Given the description of an element on the screen output the (x, y) to click on. 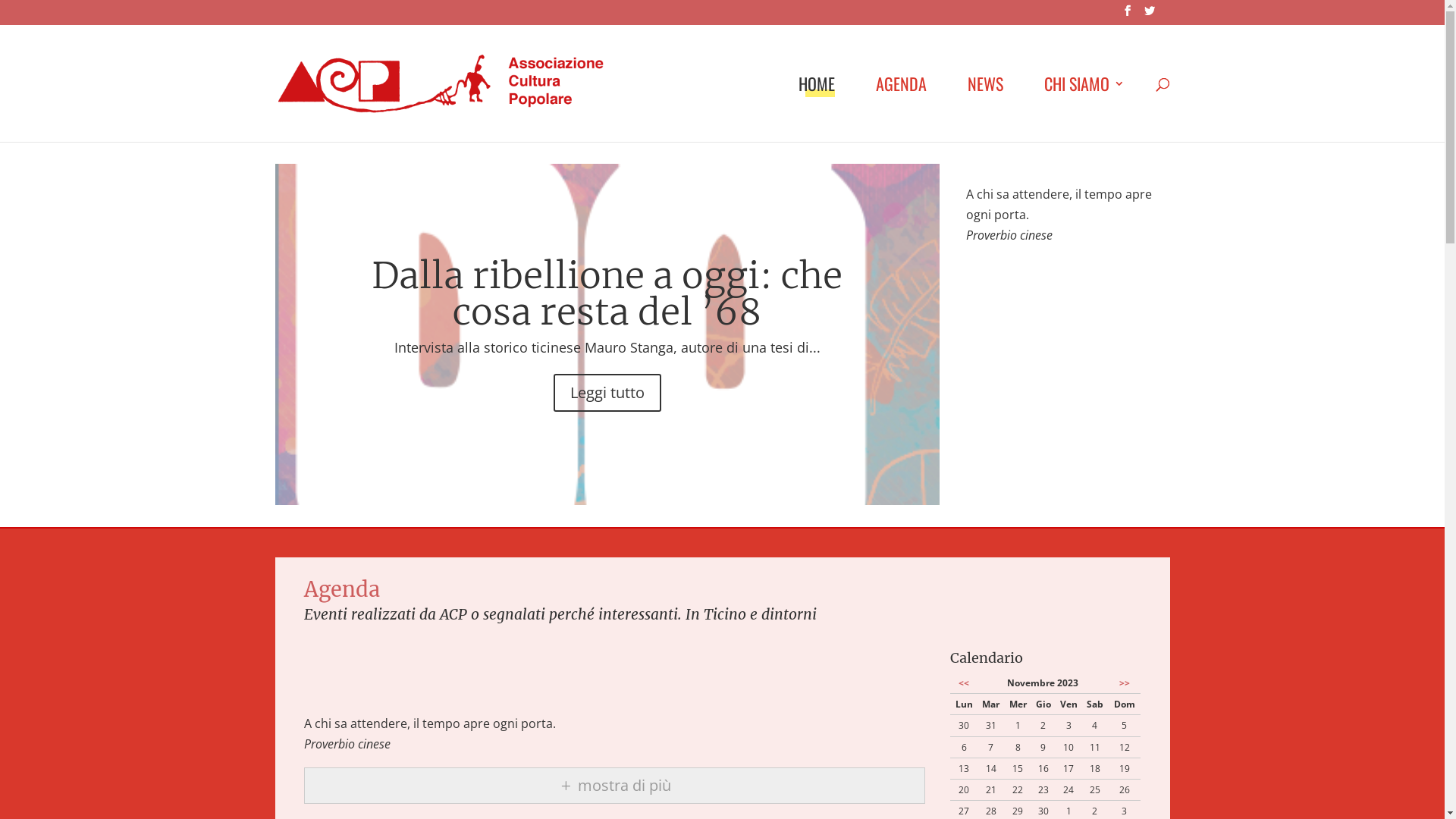
CHI SIAMO Element type: text (1083, 109)
>> Element type: text (1124, 682)
Agenda Element type: text (341, 589)
NEWS Element type: text (985, 109)
HOME Element type: text (815, 109)
Leggi tutto Element type: text (607, 392)
<< Element type: text (963, 682)
AGENDA Element type: text (900, 109)
